Given the description of an element on the screen output the (x, y) to click on. 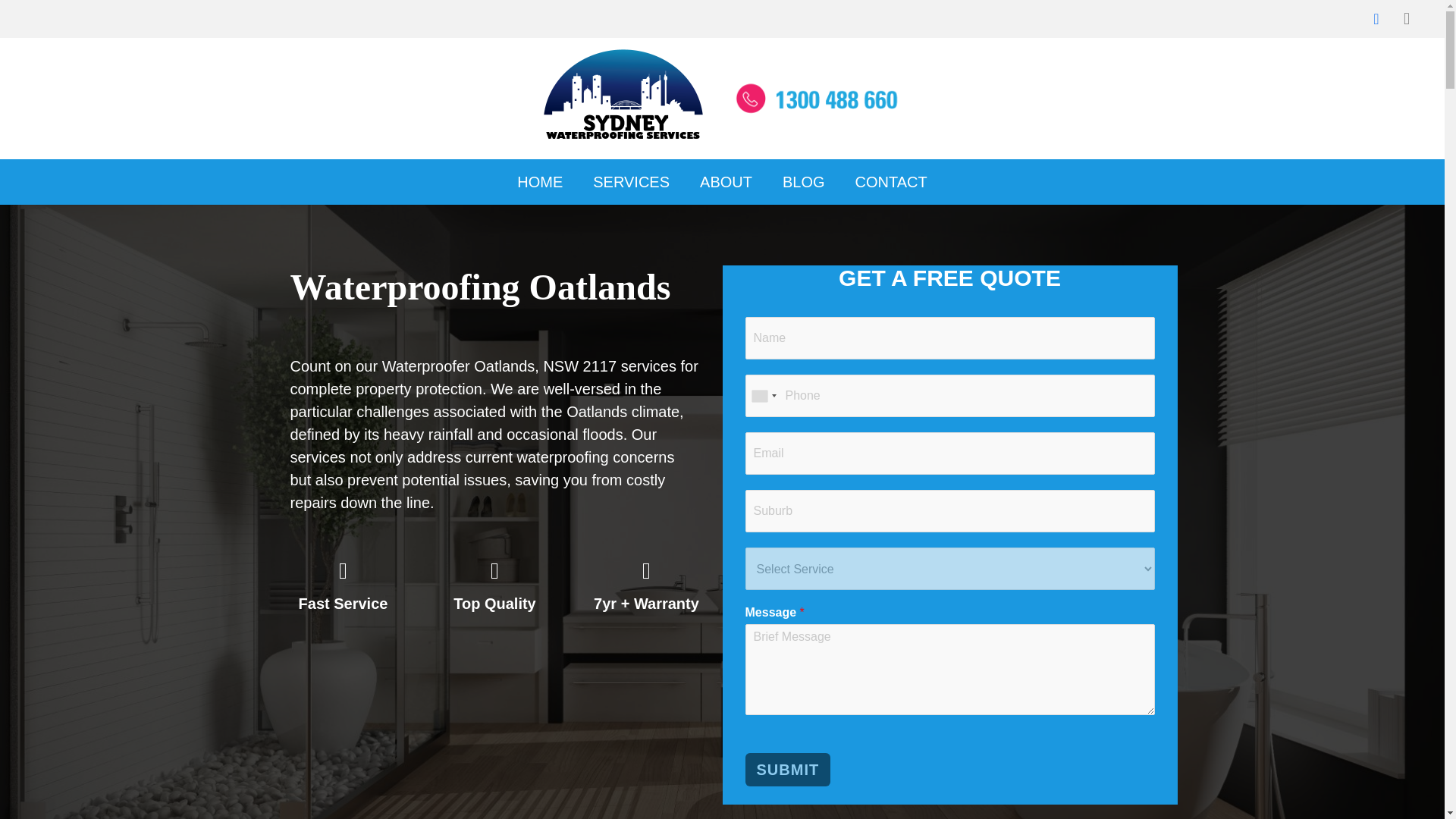
CONTACT (891, 181)
HOME (540, 181)
SUBMIT (786, 769)
Instagram (1406, 19)
SERVICES (631, 181)
BLOG (803, 181)
ABOUT (725, 181)
Facebook (1376, 19)
